Given the description of an element on the screen output the (x, y) to click on. 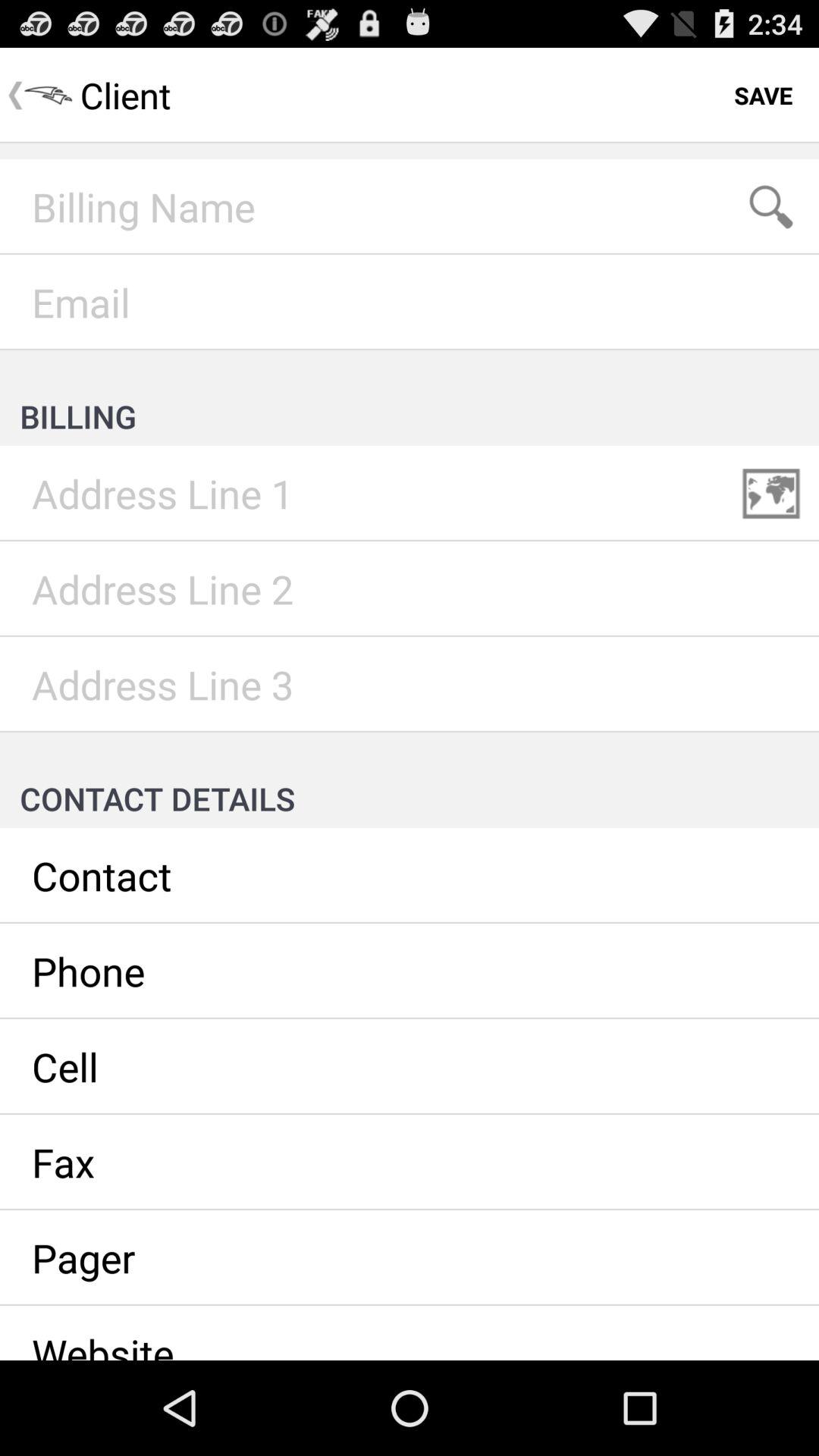
opens a link to the contact details for cell phone (409, 1066)
